Given the description of an element on the screen output the (x, y) to click on. 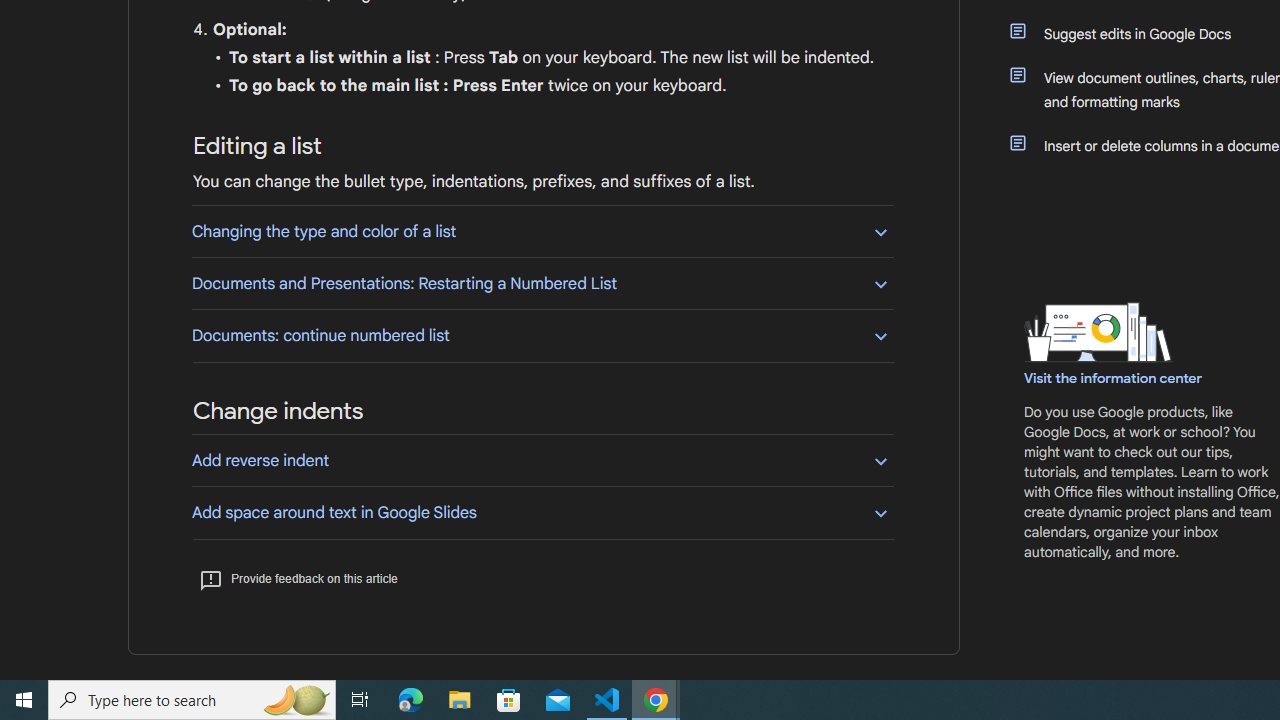
Documents: continue numbered list (542, 335)
Add reverse indent (542, 460)
Changing the type and color of a list (542, 231)
Visit the information center (1113, 378)
Documents and Presentations: Restarting a Numbered List (542, 283)
Provide feedback on this article (298, 578)
Add space around text in Google Slides (542, 512)
